Given the description of an element on the screen output the (x, y) to click on. 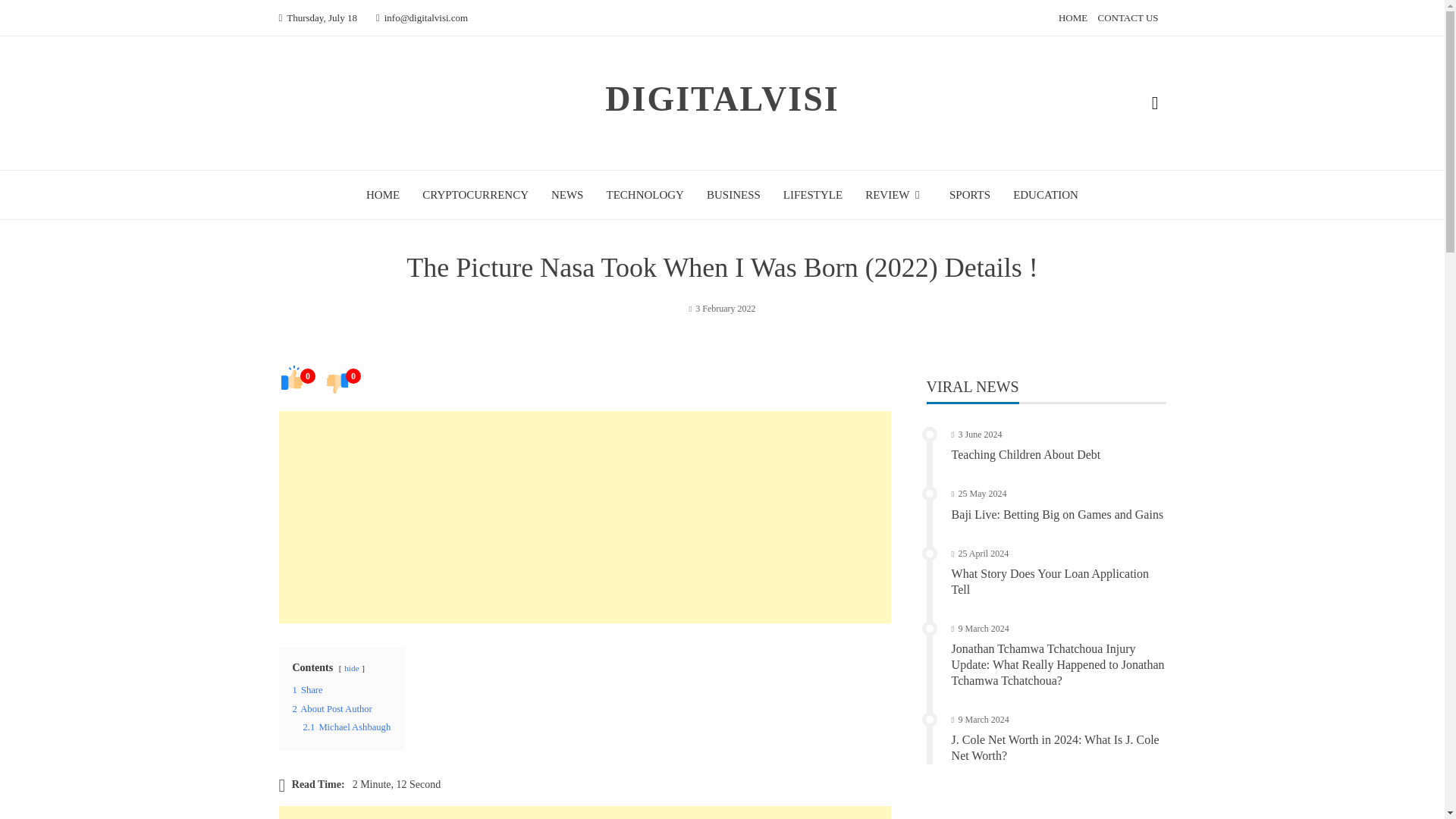
1 Share (307, 689)
CONTACT US (1127, 17)
TECHNOLOGY (644, 194)
HOME (382, 194)
NEWS (567, 194)
LIFESTYLE (813, 194)
hide (350, 667)
Teaching Children About Debt (1026, 454)
BUSINESS (733, 194)
Baji Live: Betting Big on Games and Gains (1057, 513)
Advertisement (585, 517)
Advertisement (585, 812)
What Story Does Your Loan Application Tell (1050, 581)
EDUCATION (1045, 194)
DIGITALVISI (721, 98)
